Given the description of an element on the screen output the (x, y) to click on. 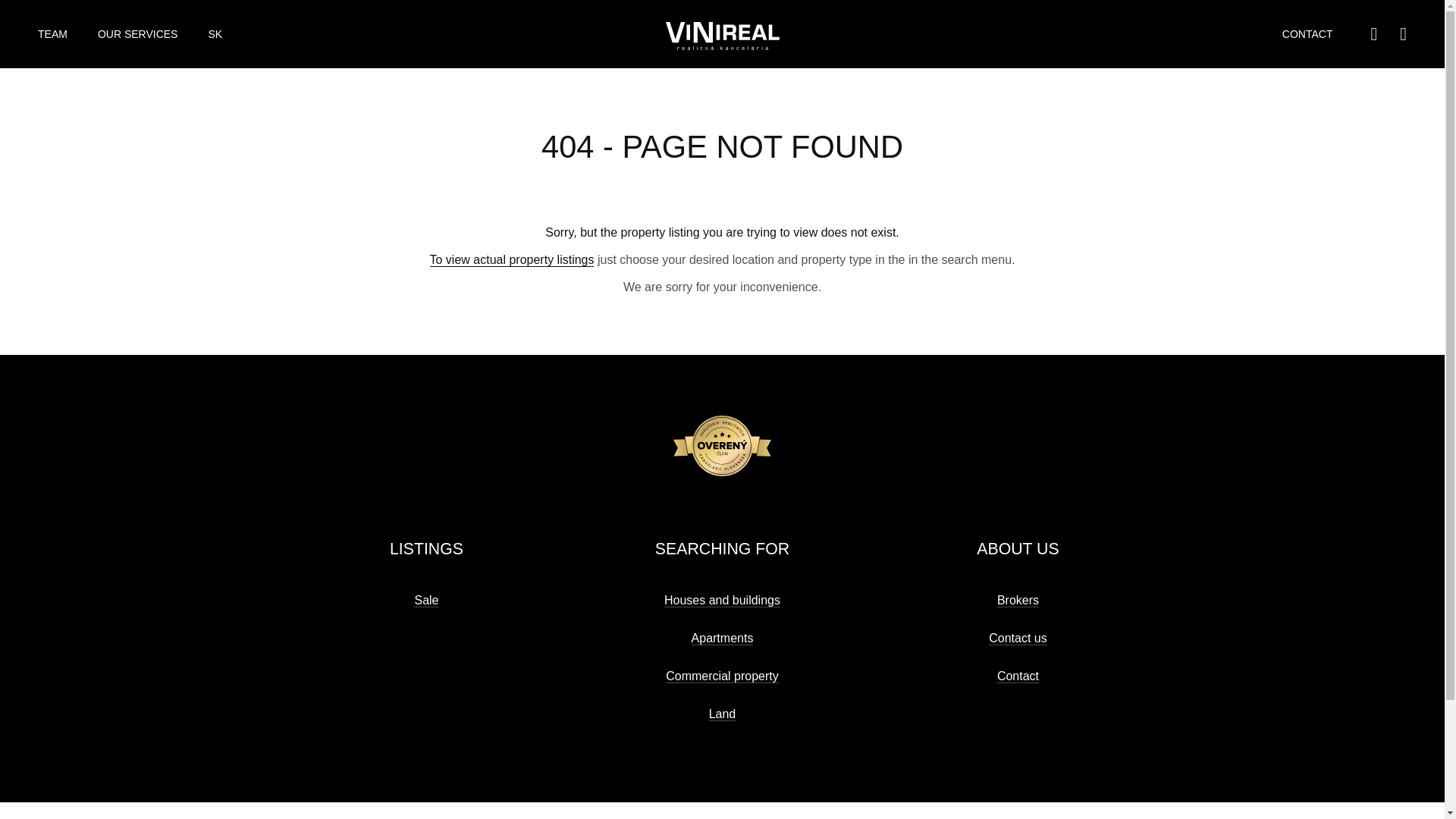
Contact us (1017, 638)
SK (215, 33)
OUR SERVICES (137, 33)
Land (722, 714)
To view actual property listings (511, 259)
CONTACT (1307, 33)
Commercial property (721, 676)
Contact (1018, 676)
TEAM (51, 33)
Apartments (722, 638)
Brokers (1018, 600)
Houses and buildings (721, 600)
Sale (425, 600)
